Given the description of an element on the screen output the (x, y) to click on. 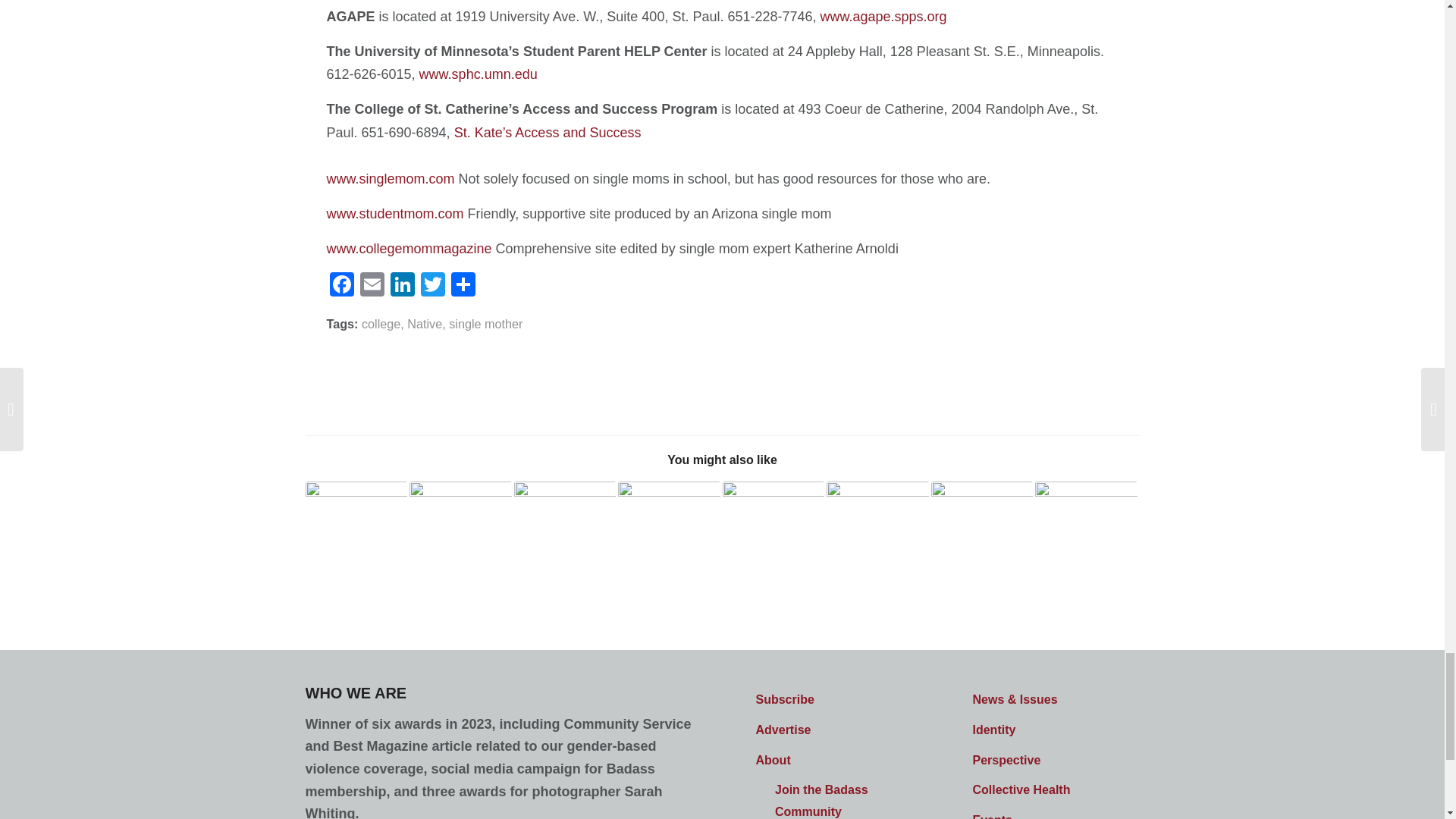
LinkedIn (401, 285)
Email (371, 285)
Facebook (341, 285)
Twitter (431, 285)
Ojibwe women (460, 514)
Water is life (355, 514)
